Given the description of an element on the screen output the (x, y) to click on. 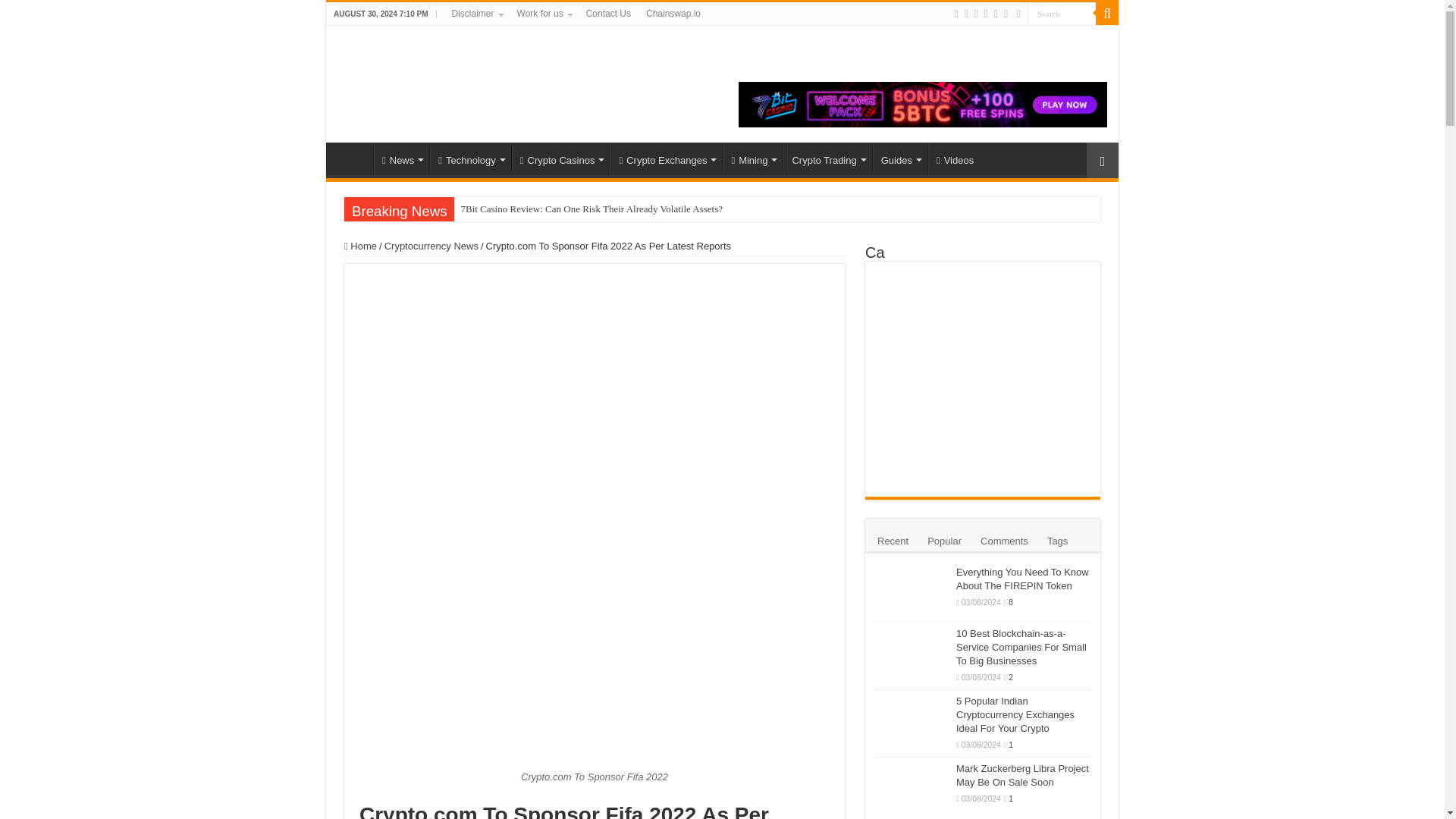
Contact Us (608, 13)
Home (352, 158)
Search (1061, 13)
Work for us (543, 13)
Search (1107, 13)
Chainswap.io (673, 13)
Disclaimer (476, 13)
Search (1061, 13)
News (401, 158)
Search (1061, 13)
